Given the description of an element on the screen output the (x, y) to click on. 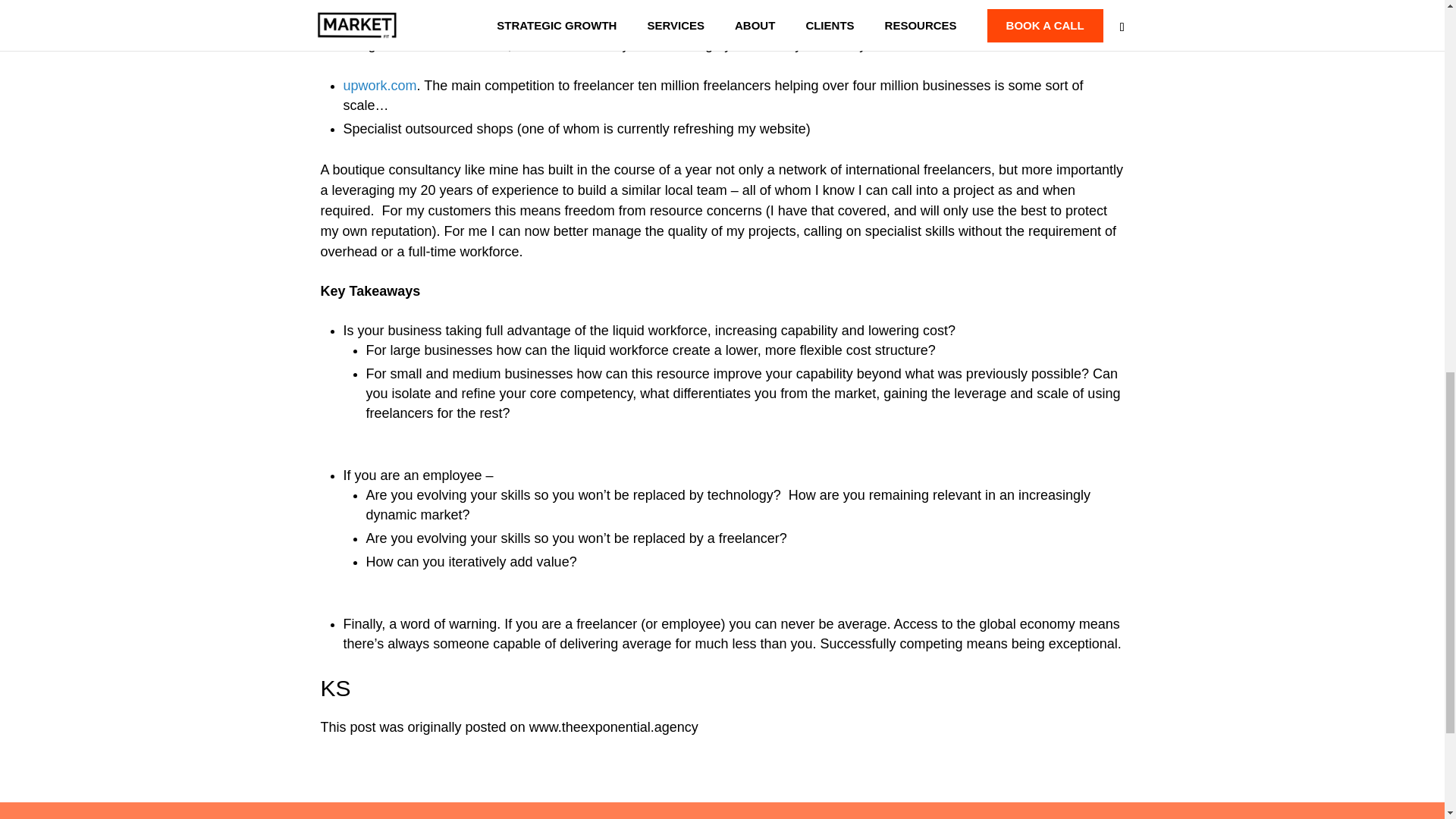
99Designs (374, 24)
BOOK A CALL (973, 818)
VIDEO (872, 818)
CLIENTS (521, 818)
BLOG (802, 818)
RESOURCES (706, 818)
HOME (440, 818)
upwork.com (379, 85)
ABOUT (605, 818)
